Given the description of an element on the screen output the (x, y) to click on. 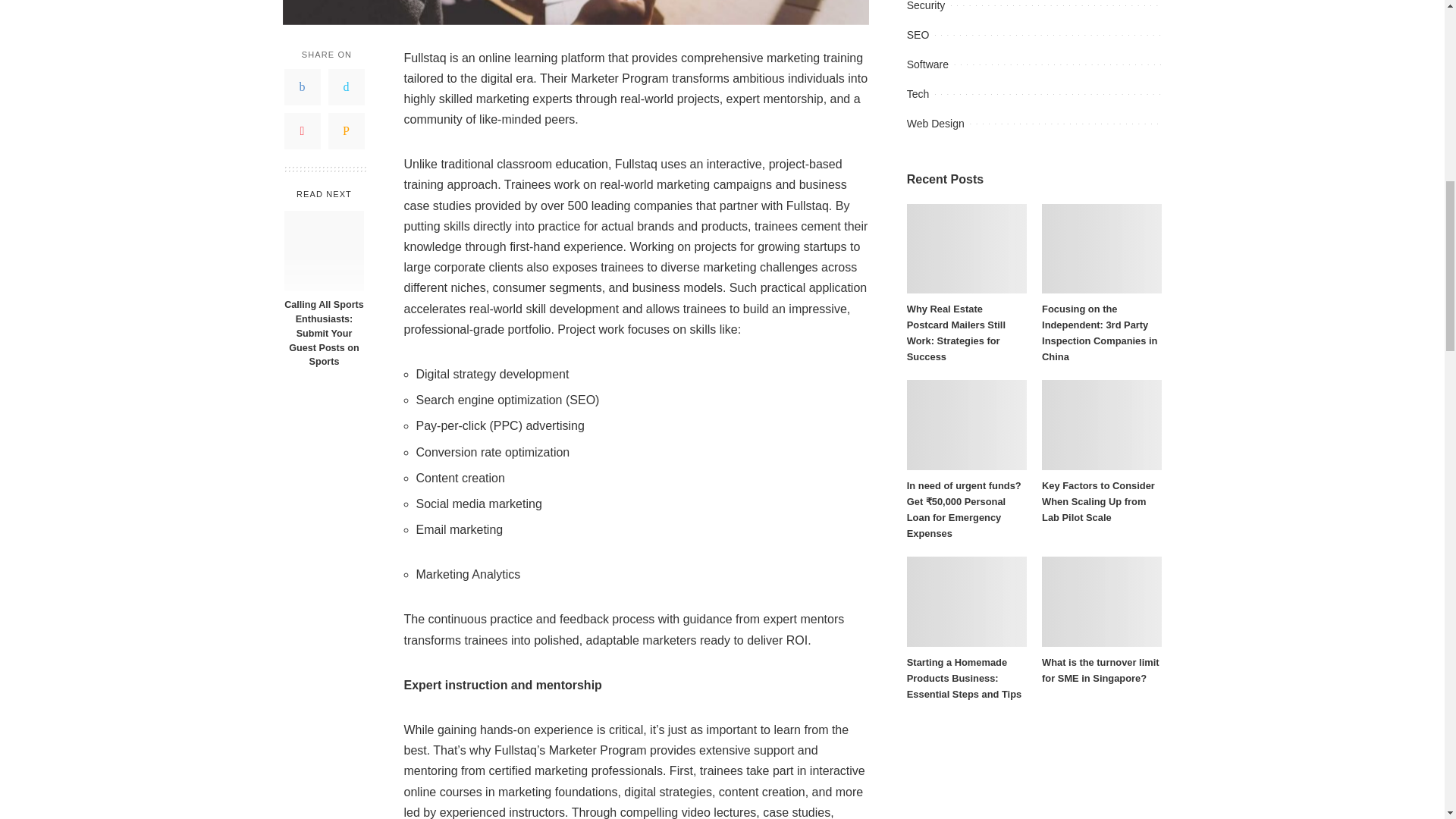
Key Factors to Consider When Scaling Up from Lab Pilot Scale (1101, 425)
Twitter (345, 86)
Pinterest (301, 131)
Email (345, 131)
Facebook (301, 86)
